Given the description of an element on the screen output the (x, y) to click on. 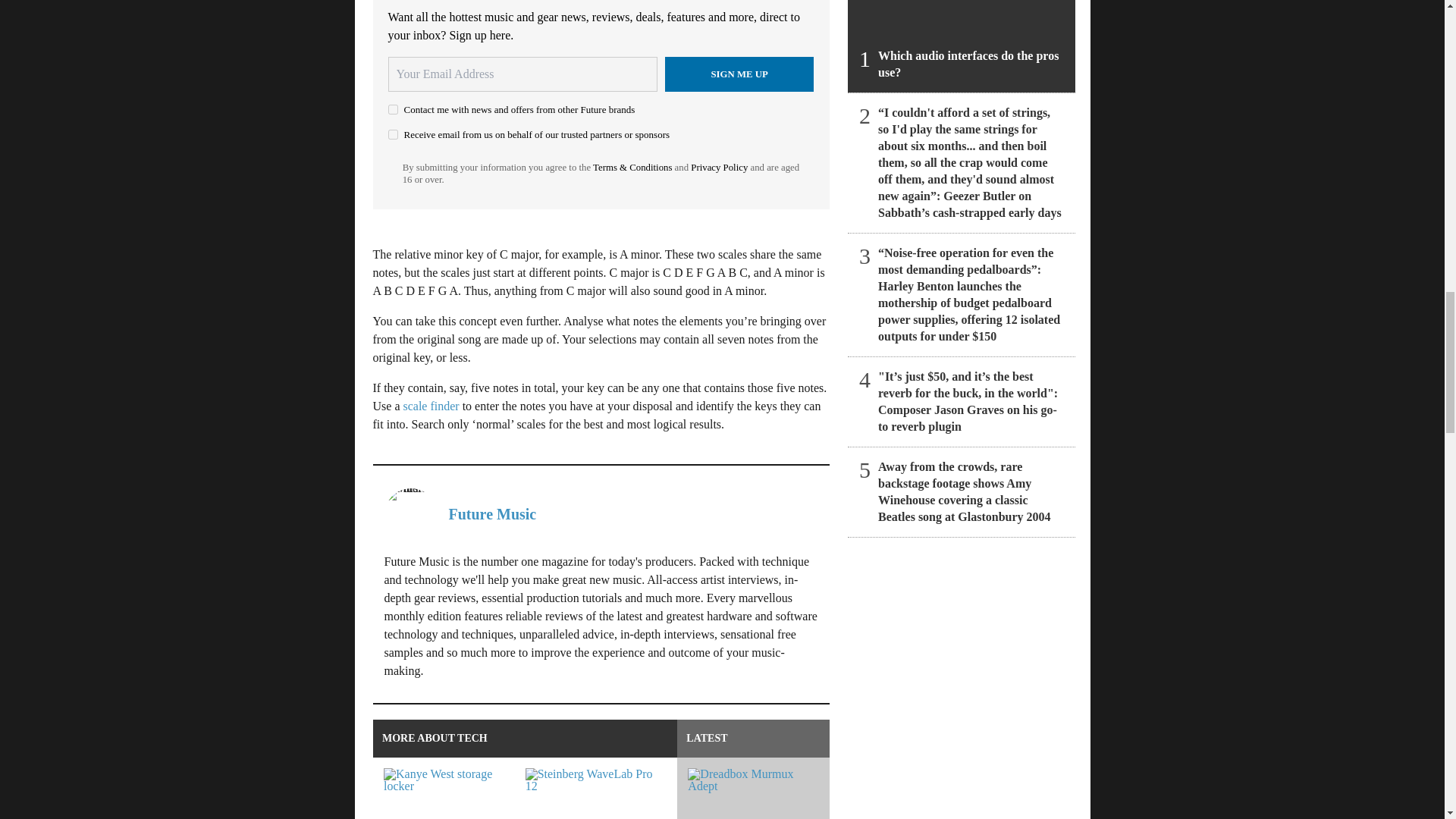
on (392, 134)
Sign me up (739, 73)
Which audio interfaces do the pros use? (961, 46)
on (392, 109)
